Given the description of an element on the screen output the (x, y) to click on. 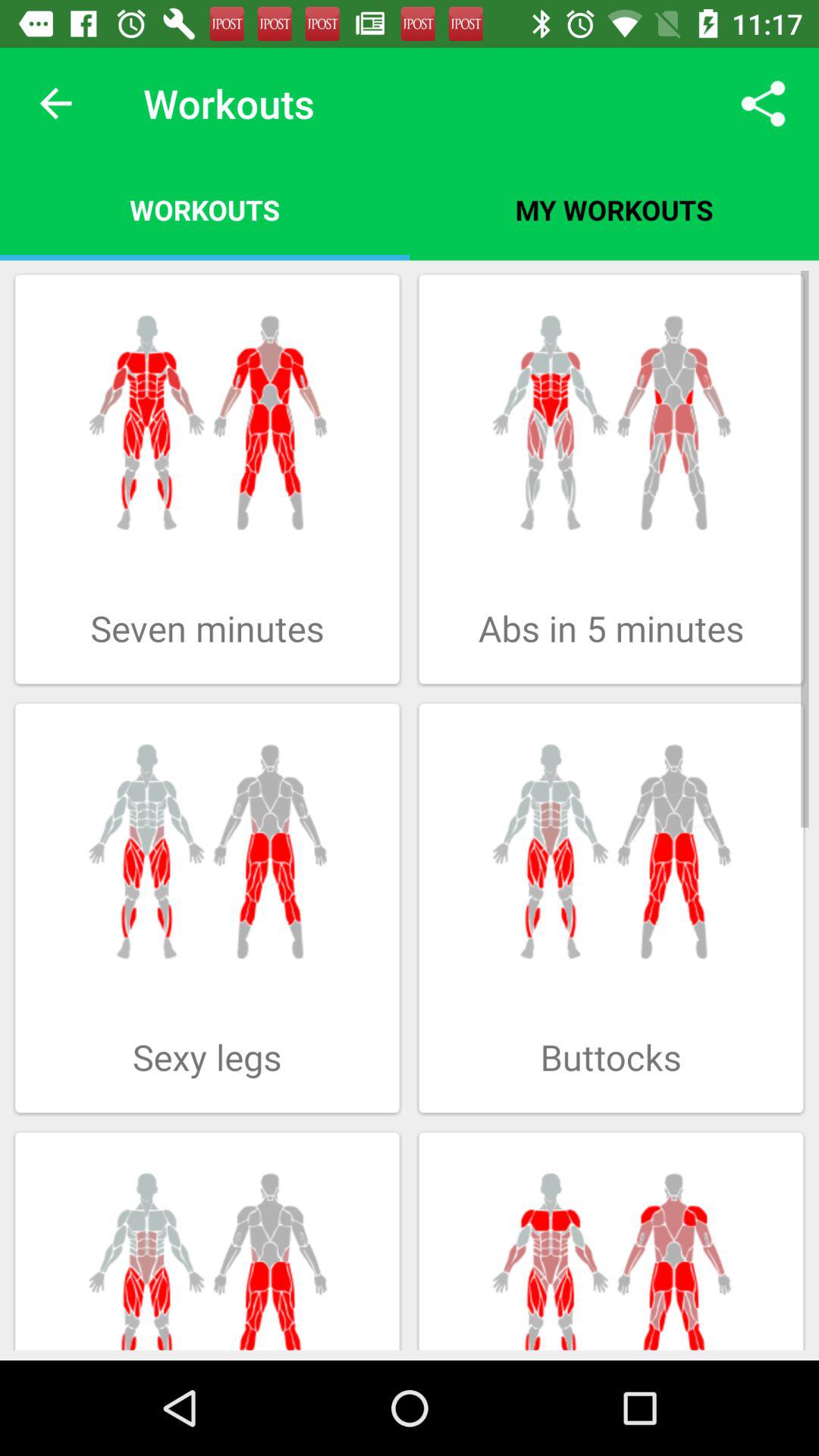
press the app to the left of workouts (55, 103)
